Given the description of an element on the screen output the (x, y) to click on. 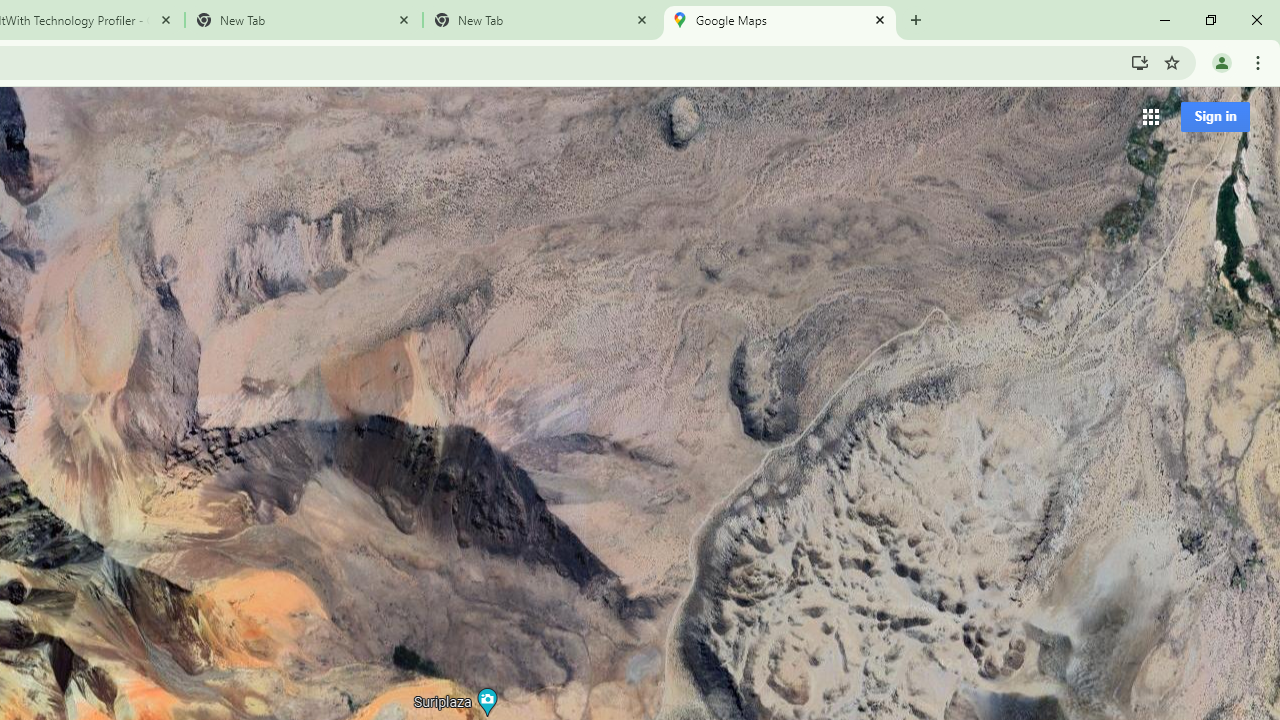
Install Google Maps (1139, 62)
New Tab (541, 20)
Google Maps (779, 20)
